Given the description of an element on the screen output the (x, y) to click on. 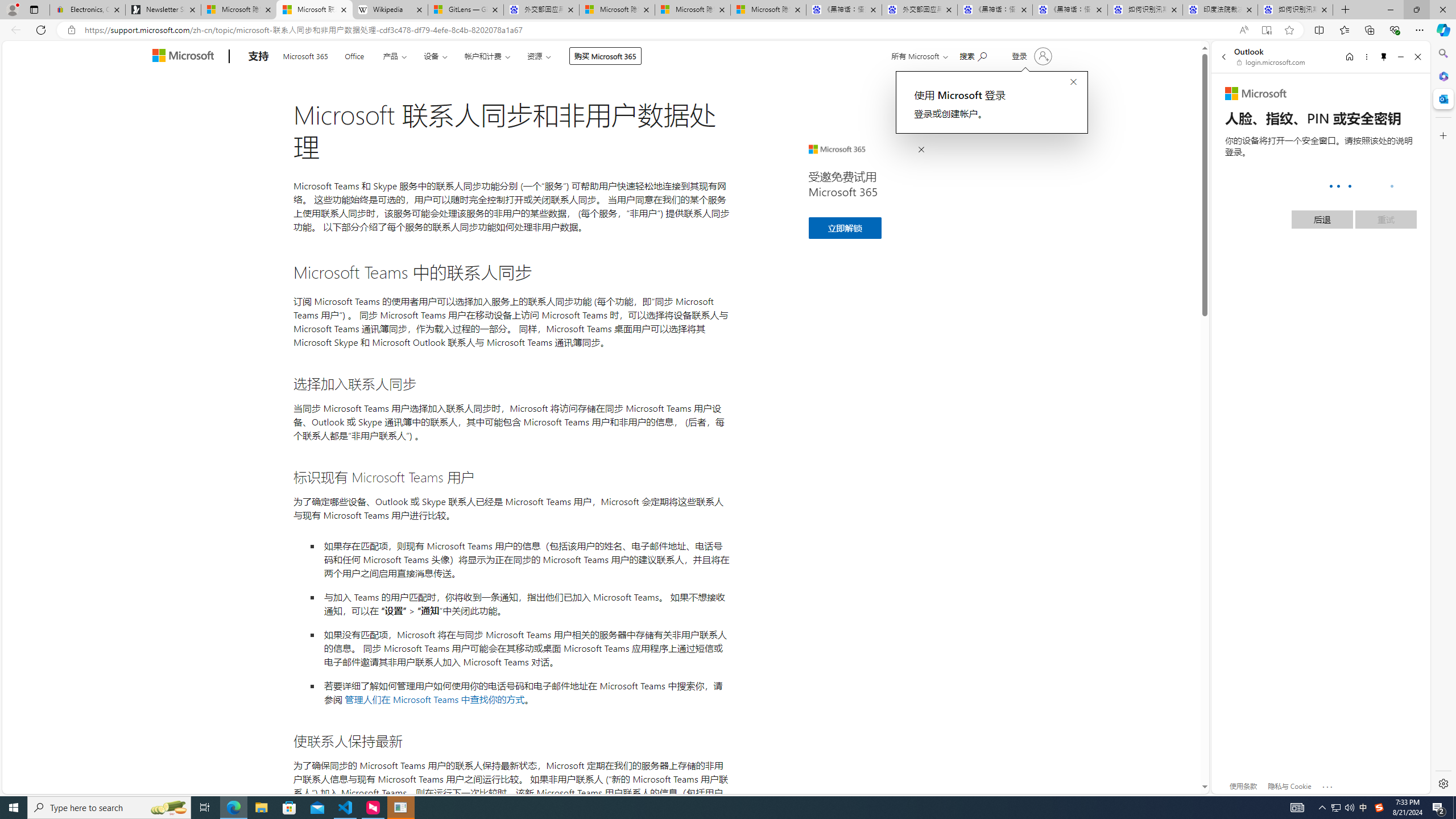
Office (354, 54)
Close callout prompt. (1072, 82)
Unpin side pane (1383, 56)
